Given the description of an element on the screen output the (x, y) to click on. 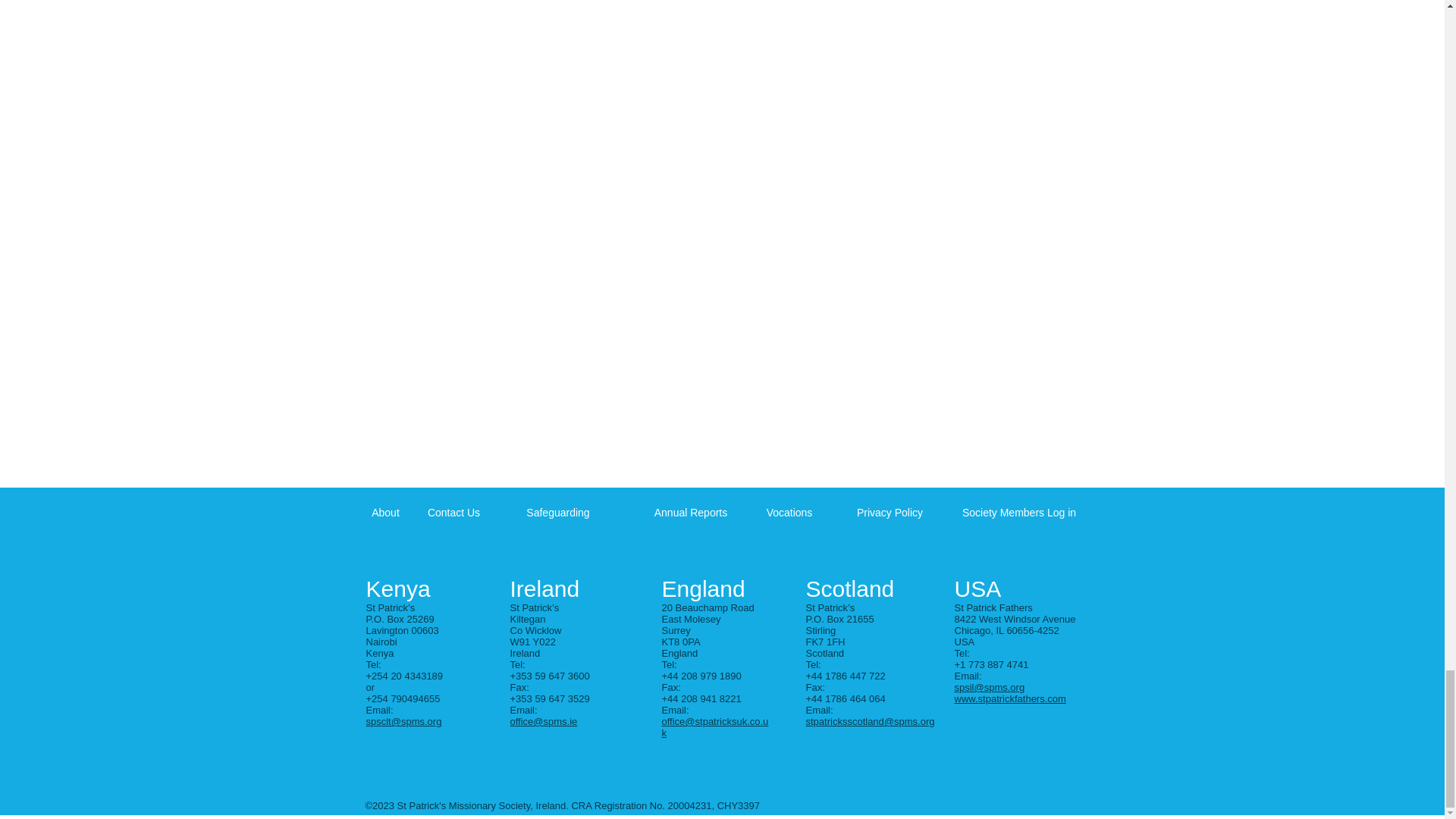
Annual Reports (690, 512)
Society Members Log in (1018, 512)
Safeguarding (557, 512)
About (384, 512)
Vocations (789, 512)
Contact Us (454, 512)
Privacy Policy (890, 512)
